Given the description of an element on the screen output the (x, y) to click on. 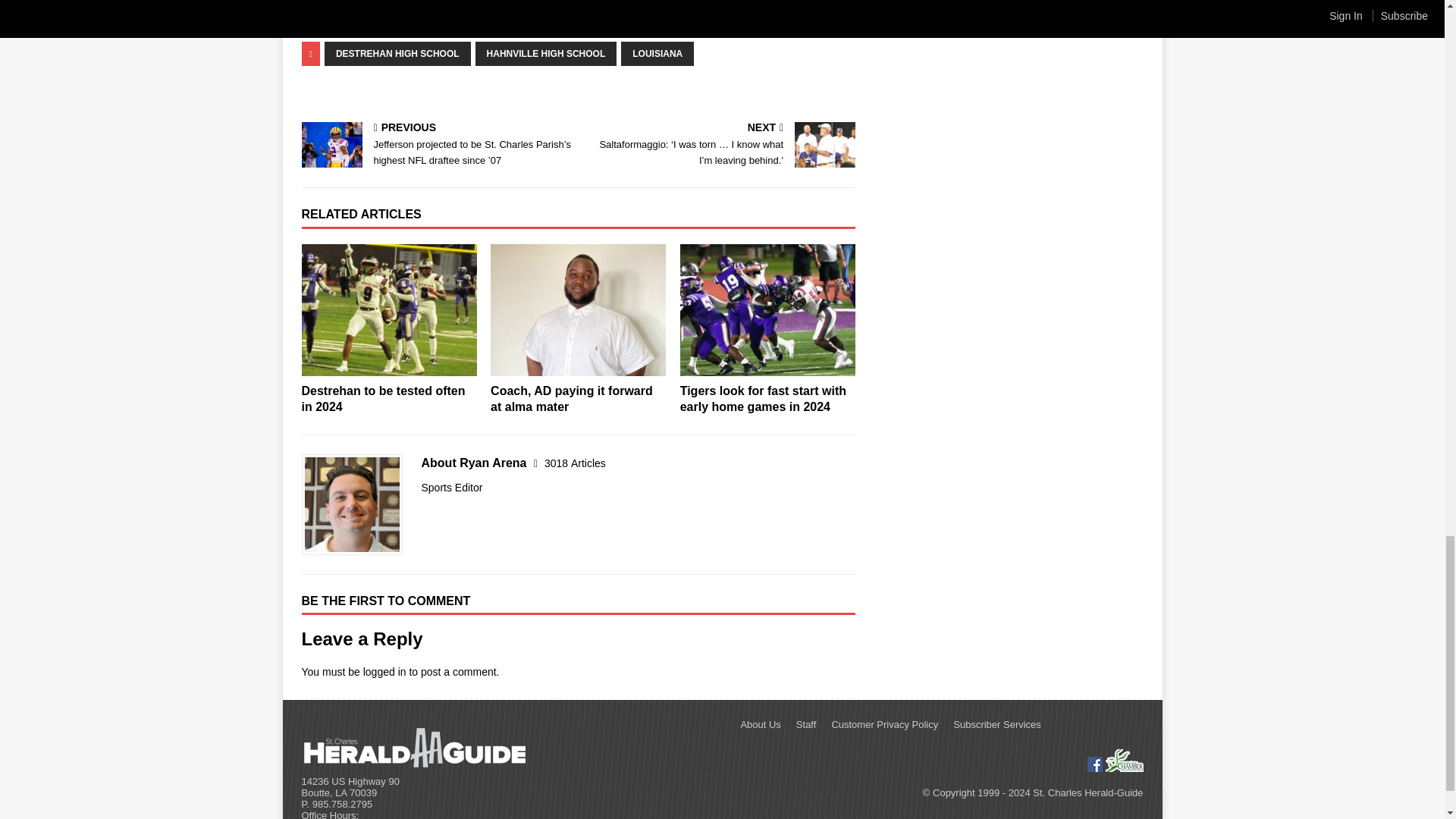
Tigers look for fast start with early home games in 2024 (767, 309)
Coach, AD paying it forward at alma mater (571, 398)
Destrehan to be tested often in 2024 (389, 309)
Destrehan to be tested often in 2024 (383, 398)
Coach, AD paying it forward at alma mater (577, 309)
